Given the description of an element on the screen output the (x, y) to click on. 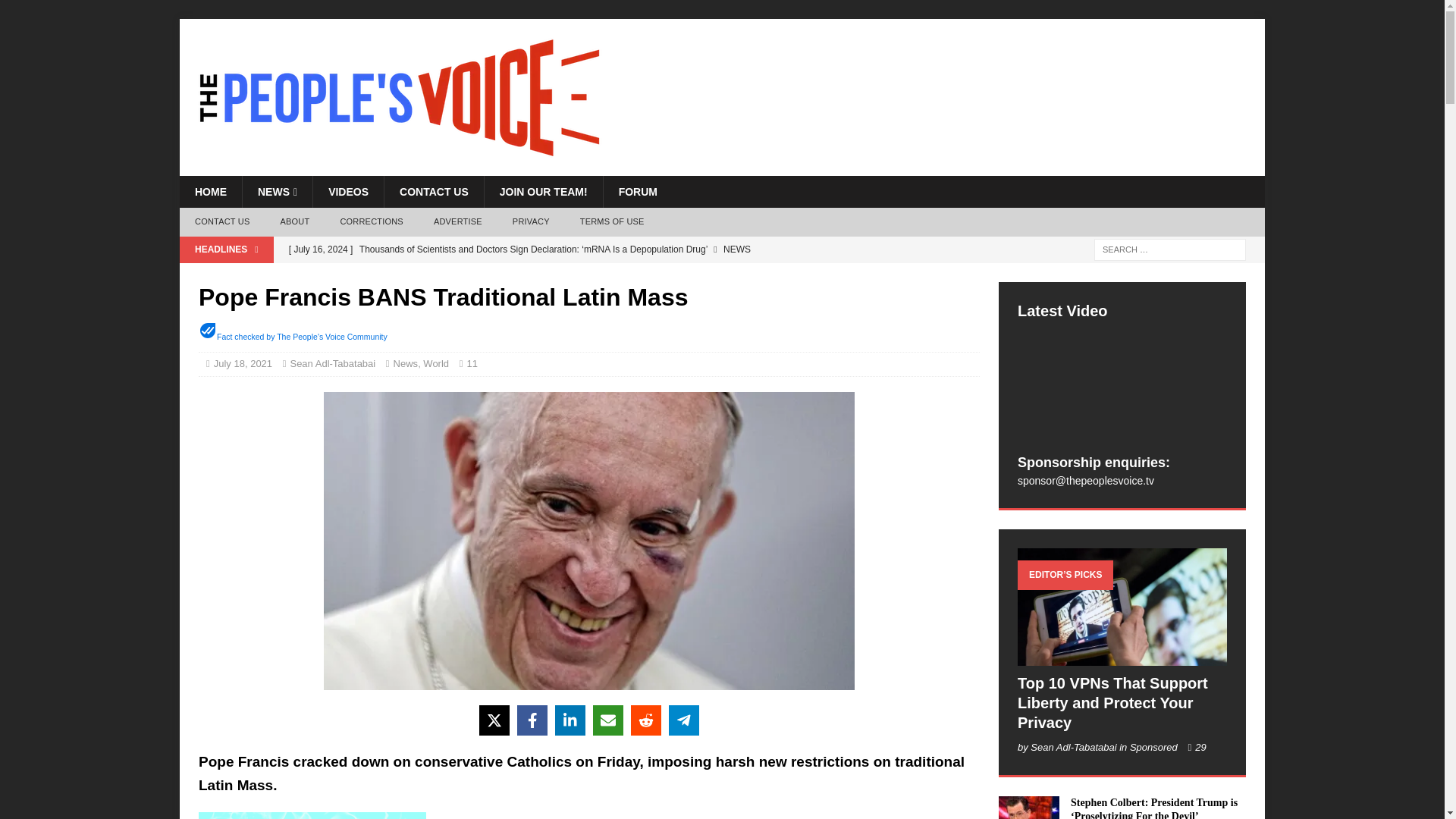
FORUM (637, 192)
NEWS (277, 192)
PRIVACY (530, 222)
JOIN OUR TEAM! (542, 192)
ADVERTISE (458, 222)
ABOUT (294, 222)
CONTACT US (221, 222)
CONTACT US (433, 192)
TERMS OF USE (611, 222)
VIDEOS (348, 192)
CORRECTIONS (370, 222)
HOME (210, 192)
